Given the description of an element on the screen output the (x, y) to click on. 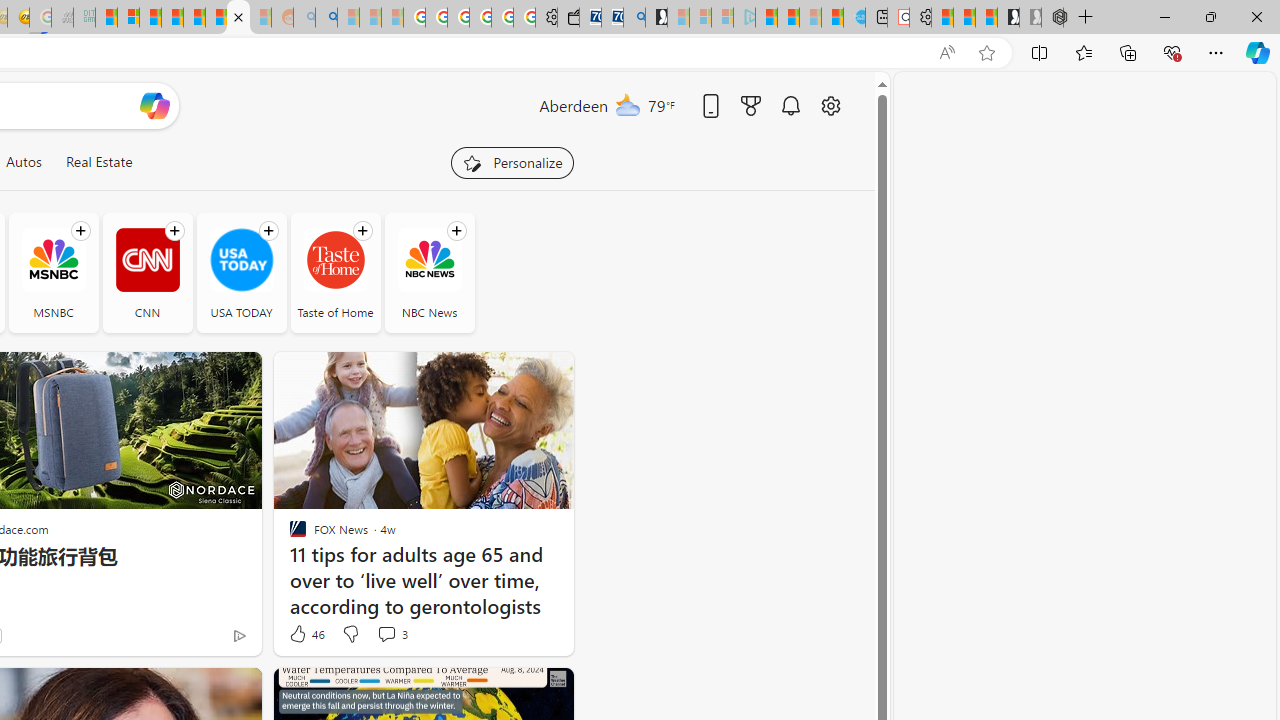
MSNBC (52, 272)
Taste of Home (335, 260)
Personalize your feed" (511, 162)
Autos (23, 161)
Kinda Frugal - MSN (216, 17)
NBC News (429, 272)
